Given the description of an element on the screen output the (x, y) to click on. 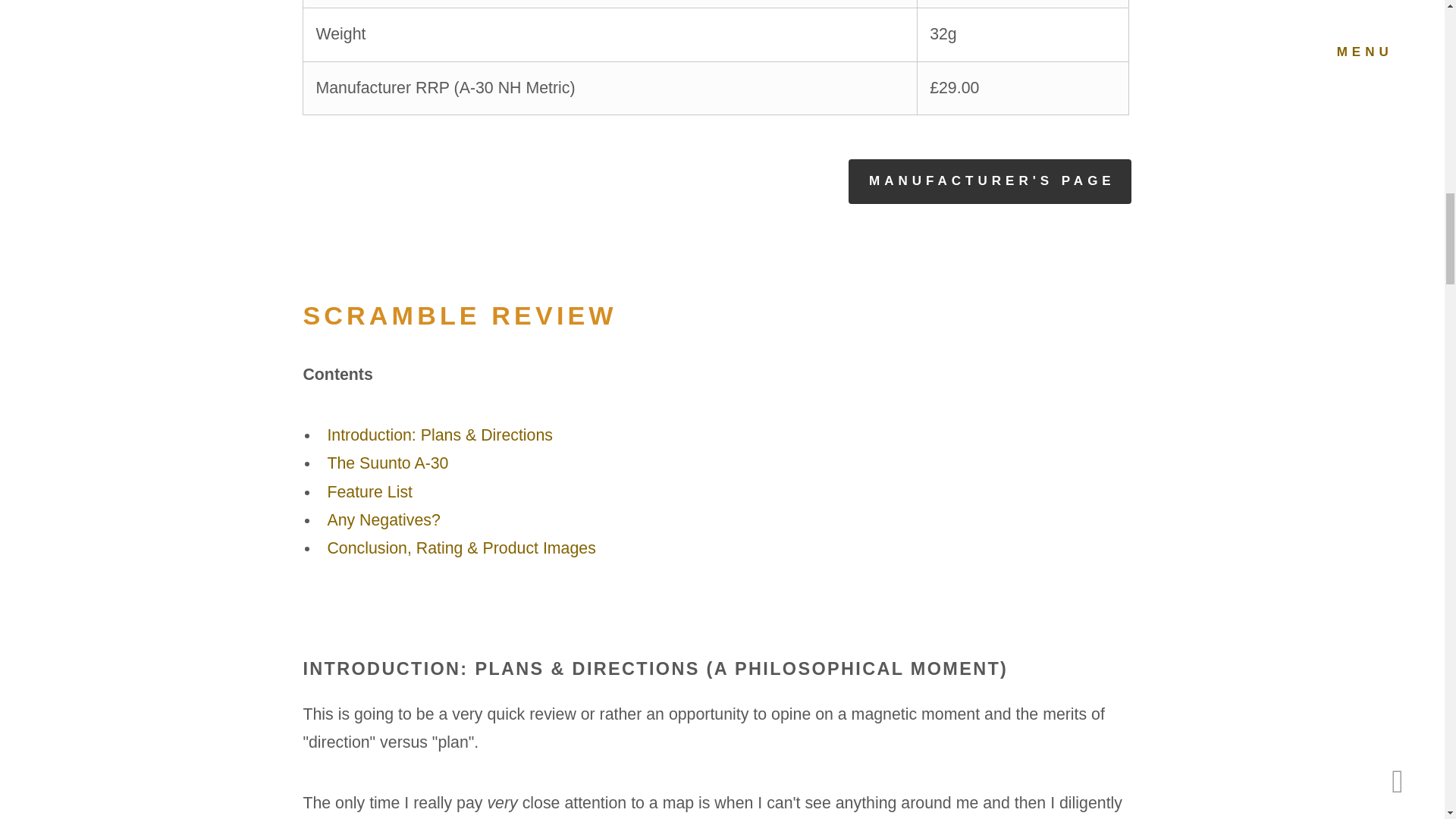
The Suunto A-30 (387, 463)
Feature List (369, 492)
MANUFACTURER'S PAGE (989, 181)
Any Negatives? (382, 520)
